Given the description of an element on the screen output the (x, y) to click on. 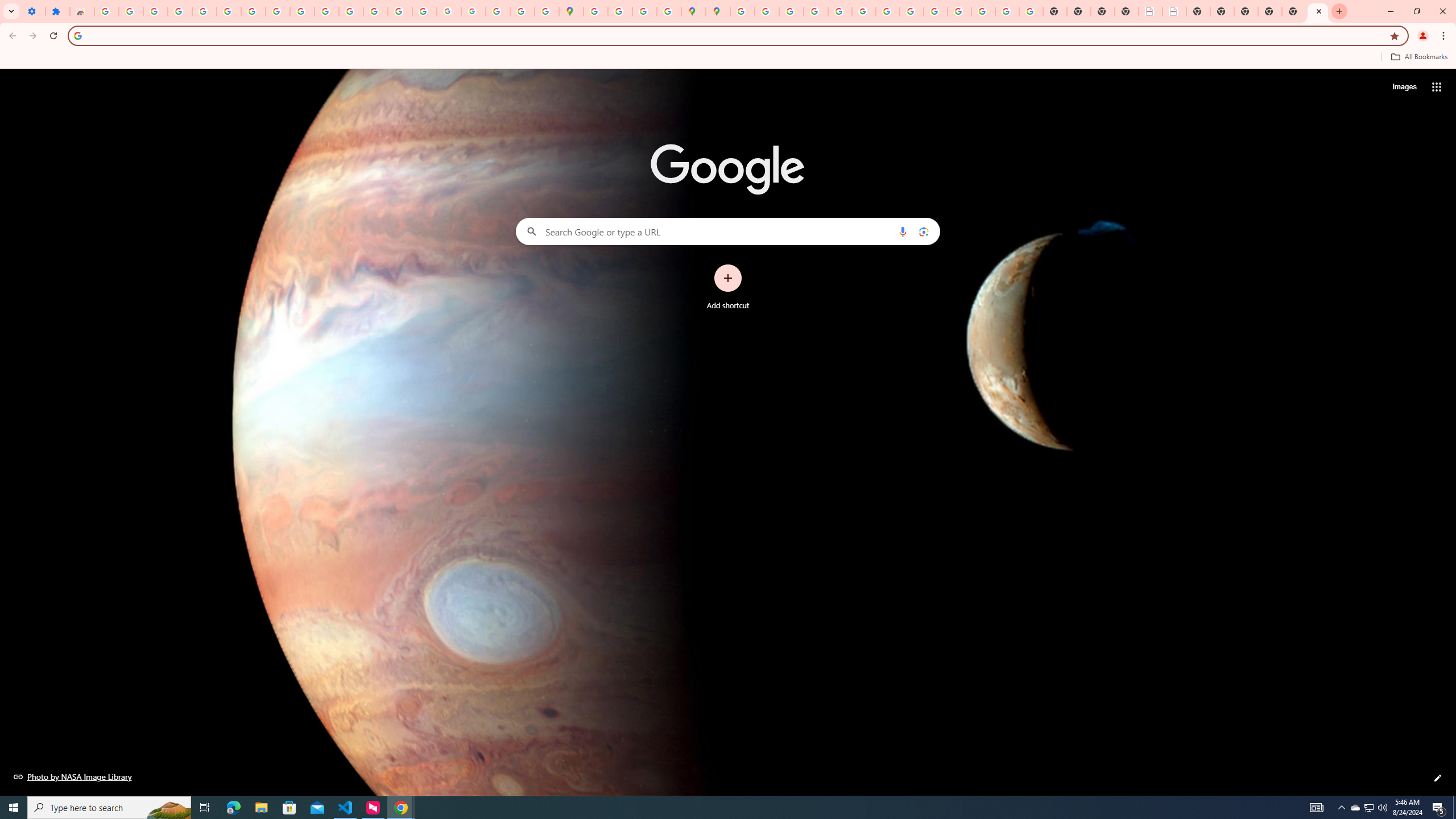
New Tab (1245, 11)
New Tab (1270, 11)
New Tab (1317, 11)
LAAD Defence & Security 2025 | BAE Systems (1150, 11)
Privacy Help Center - Policies Help (791, 11)
